Given the description of an element on the screen output the (x, y) to click on. 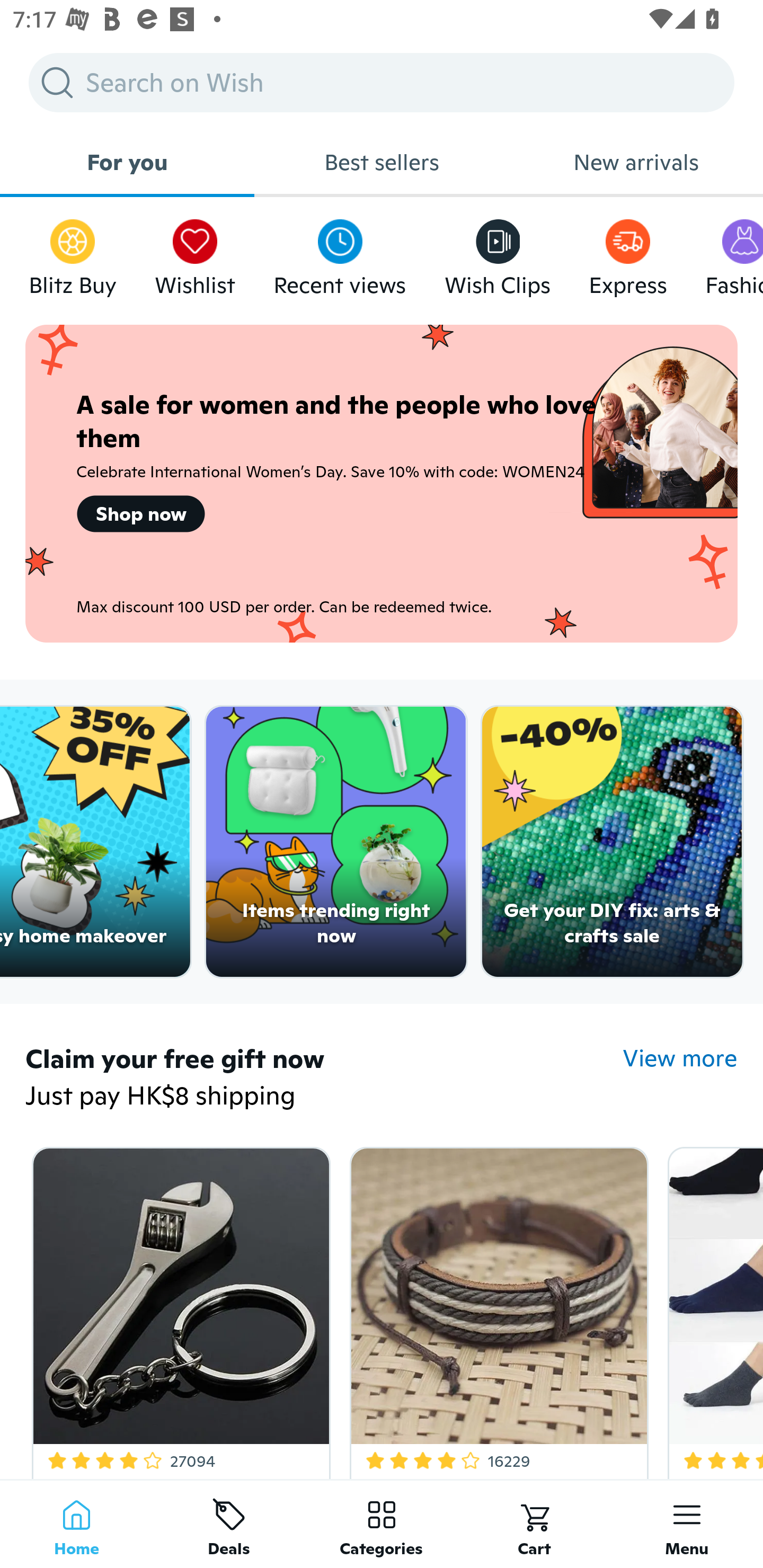
Search on Wish (381, 82)
For you (127, 161)
Best sellers (381, 161)
New arrivals (635, 161)
Blitz Buy (72, 252)
Wishlist (194, 252)
Recent views (339, 252)
Wish Clips (497, 252)
Express (627, 252)
Fashion (734, 252)
Messy home makeover (94, 841)
Items trending right now (336, 841)
Get your DIY fix: arts & crafts sale (612, 841)
Claim your free gift now
Just pay HK$8 shipping (323, 1078)
View more (679, 1058)
4 Star Rating 27094 Free (177, 1308)
3.8 Star Rating 16229 Free (495, 1308)
Home (76, 1523)
Deals (228, 1523)
Categories (381, 1523)
Cart (533, 1523)
Menu (686, 1523)
